Given the description of an element on the screen output the (x, y) to click on. 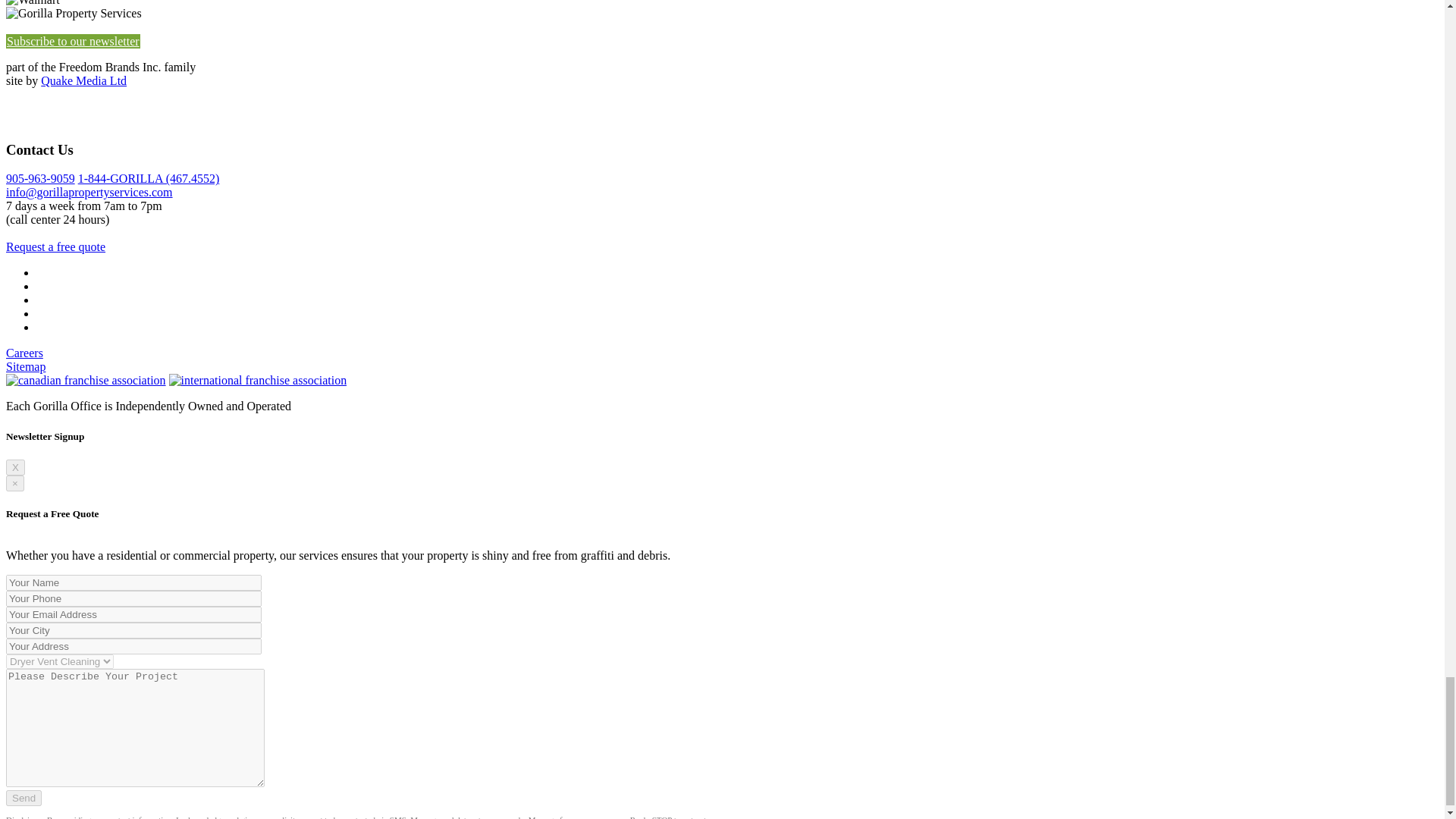
Send (23, 797)
